Given the description of an element on the screen output the (x, y) to click on. 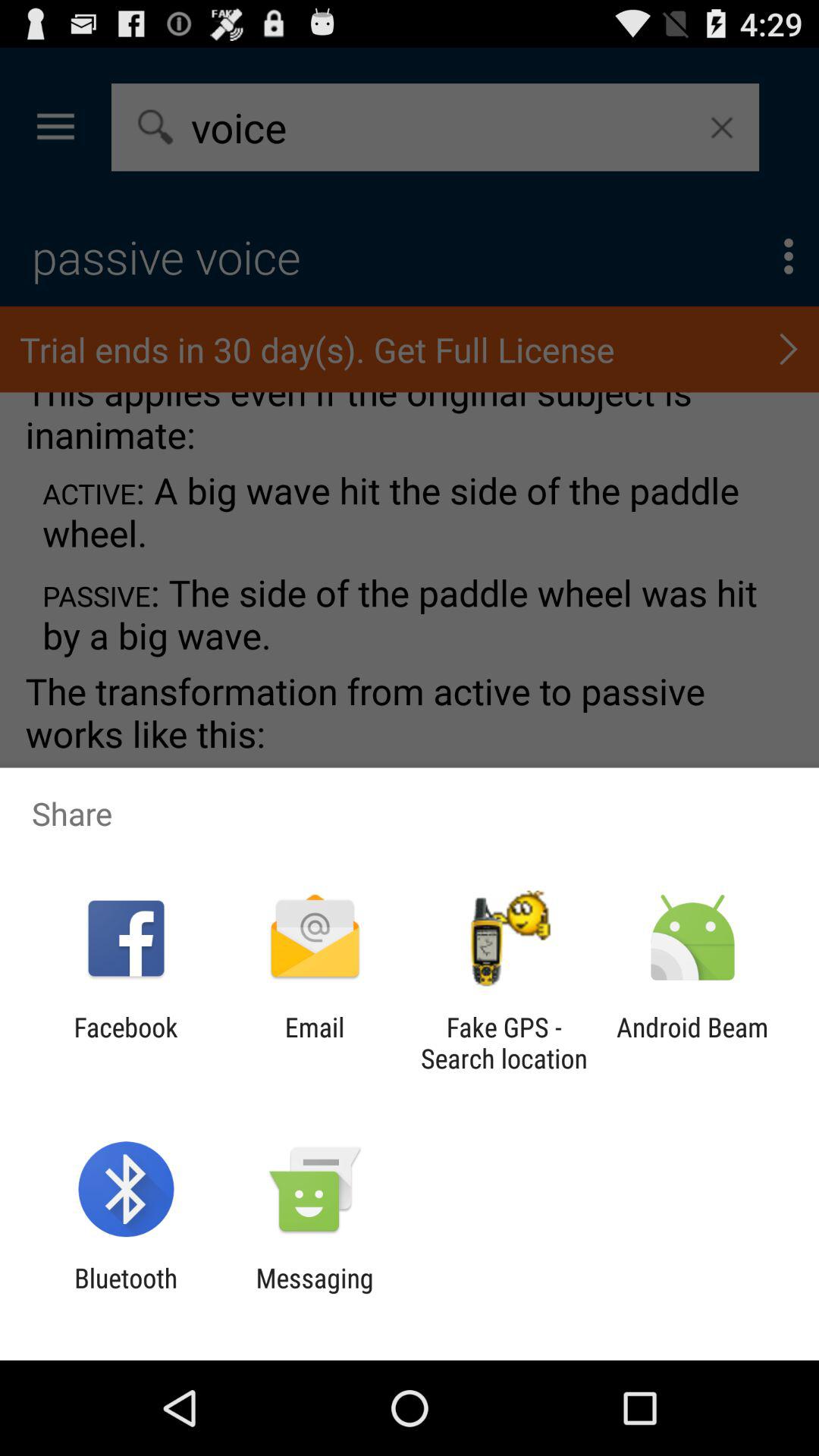
jump to the email item (314, 1042)
